Given the description of an element on the screen output the (x, y) to click on. 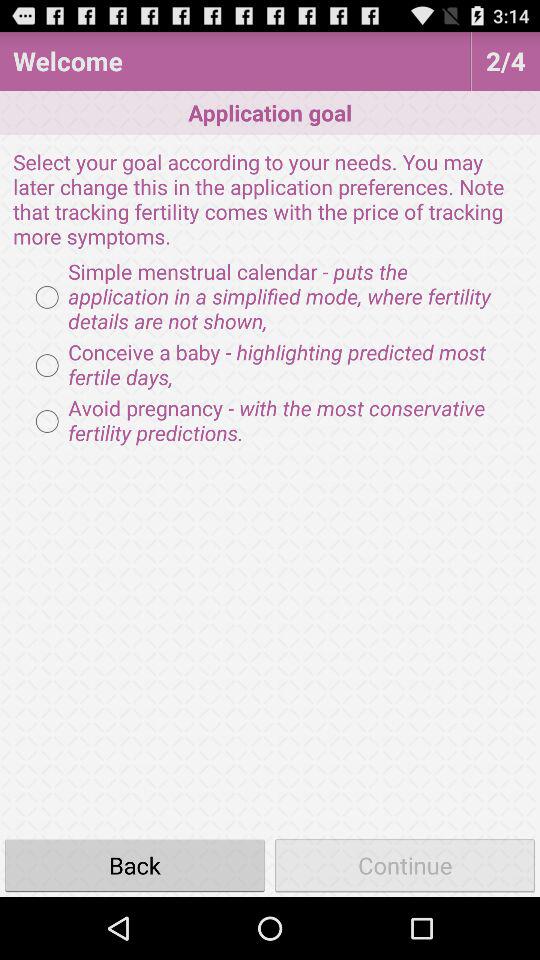
choose the item below the simple menstrual calendar radio button (269, 365)
